Given the description of an element on the screen output the (x, y) to click on. 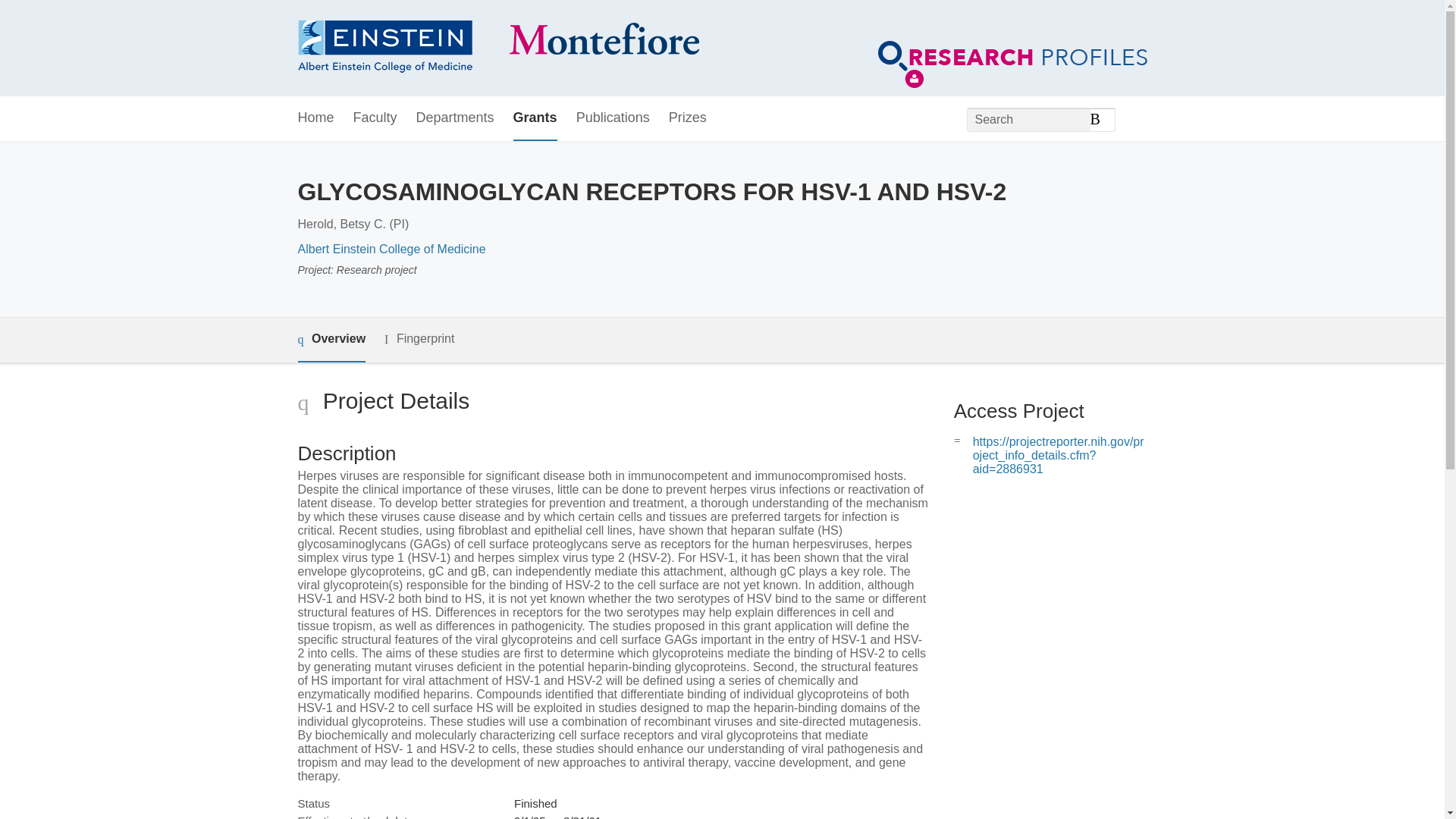
Faculty (375, 118)
Albert Einstein College of Medicine (390, 248)
Grants (535, 118)
Publications (612, 118)
Fingerprint (419, 339)
Departments (455, 118)
Albert Einstein College of Medicine Home (497, 48)
Overview (331, 339)
